Given the description of an element on the screen output the (x, y) to click on. 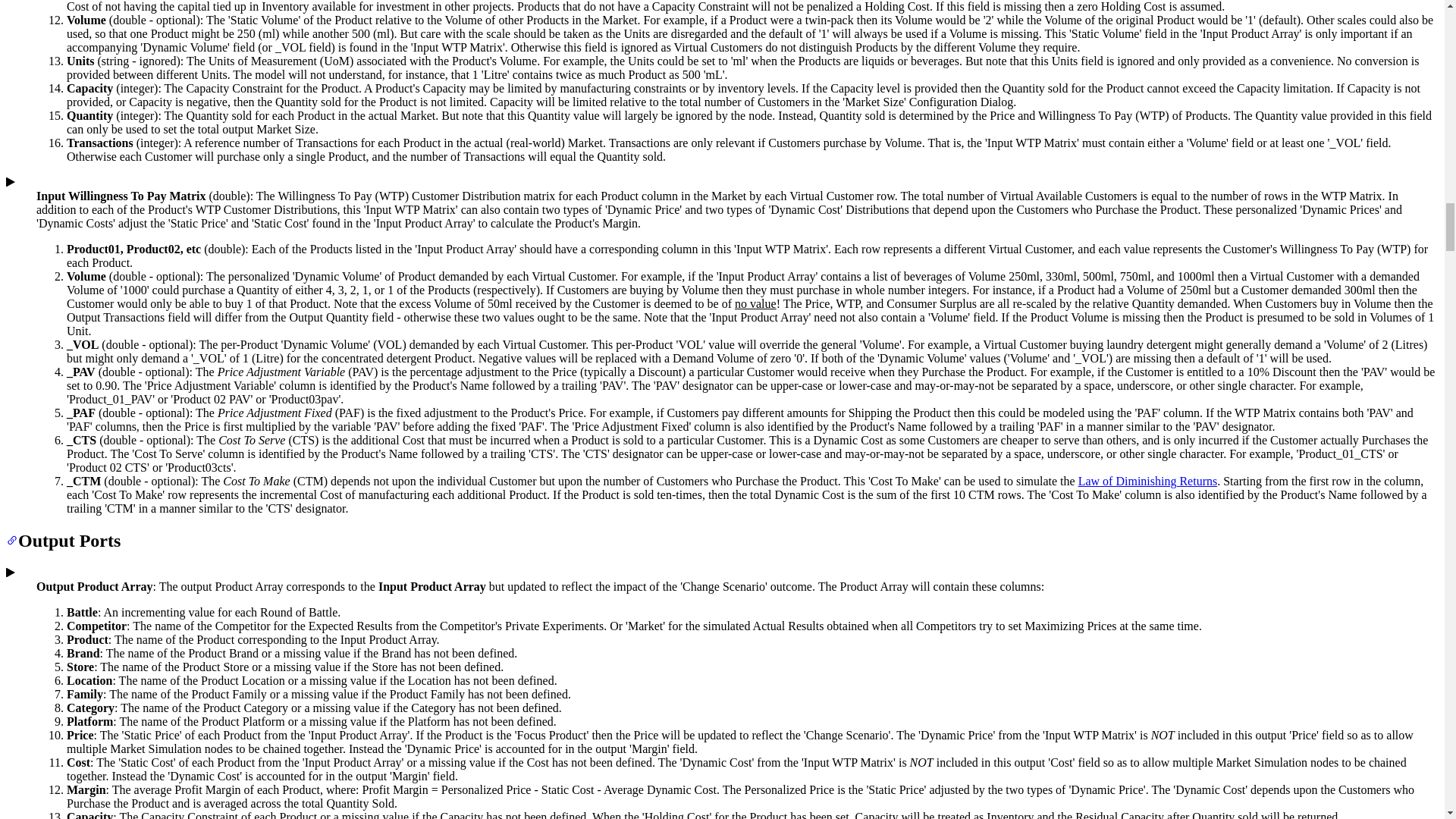
Port 1: Input Willingness To Pay Matrix (9, 182)
Port 0: Output Product Array (9, 572)
